Given the description of an element on the screen output the (x, y) to click on. 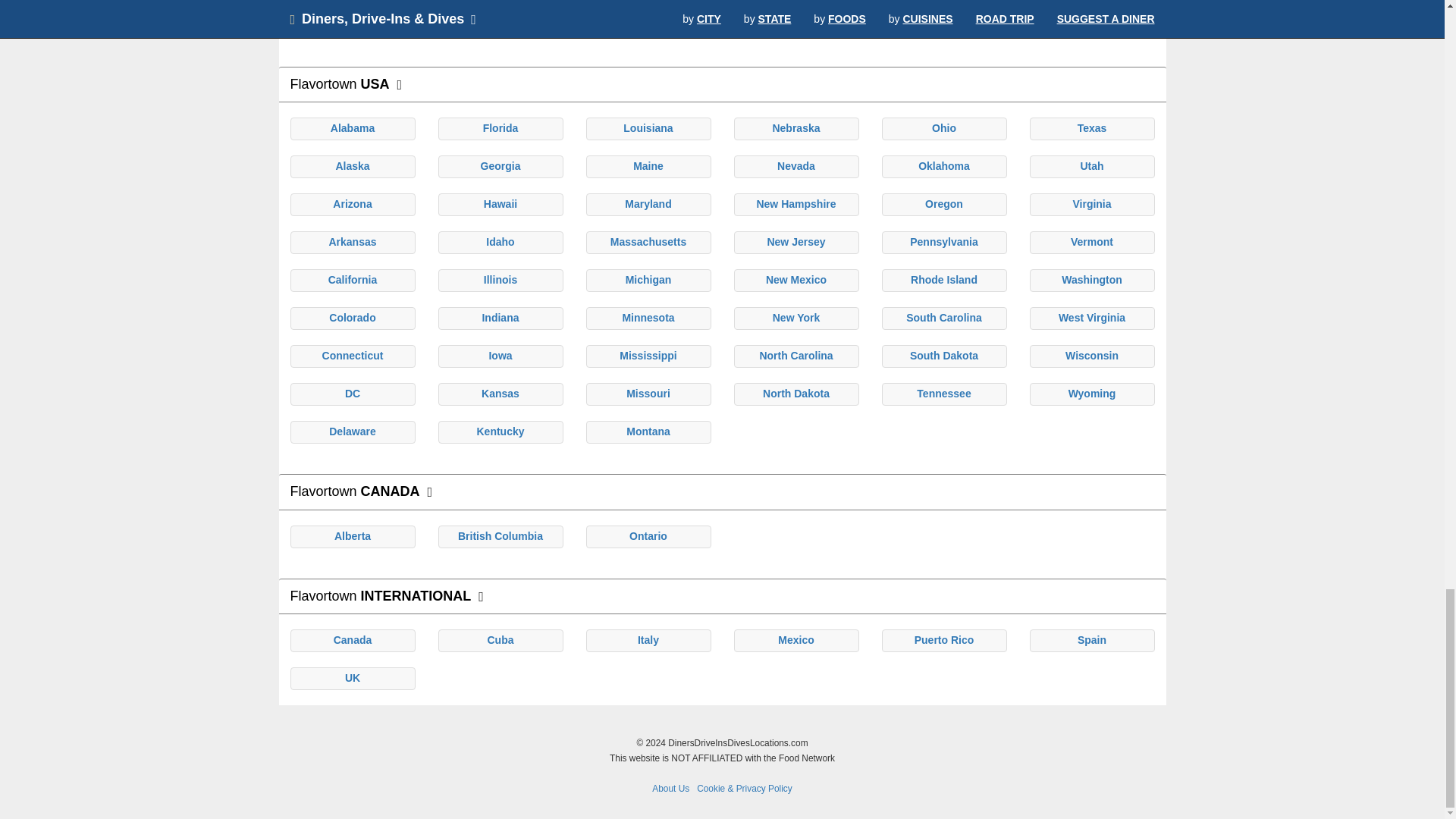
Georgia (500, 165)
Illinois (499, 279)
Alabama (352, 128)
Louisiana (647, 128)
Hawaii (499, 203)
Nebraska (795, 128)
Florida (500, 128)
Kentucky (500, 431)
Minnesota (647, 317)
Arizona (352, 203)
Connecticut (352, 355)
Maryland (647, 203)
Mississippi (648, 355)
Arkansas (352, 241)
Kansas (500, 393)
